Given the description of an element on the screen output the (x, y) to click on. 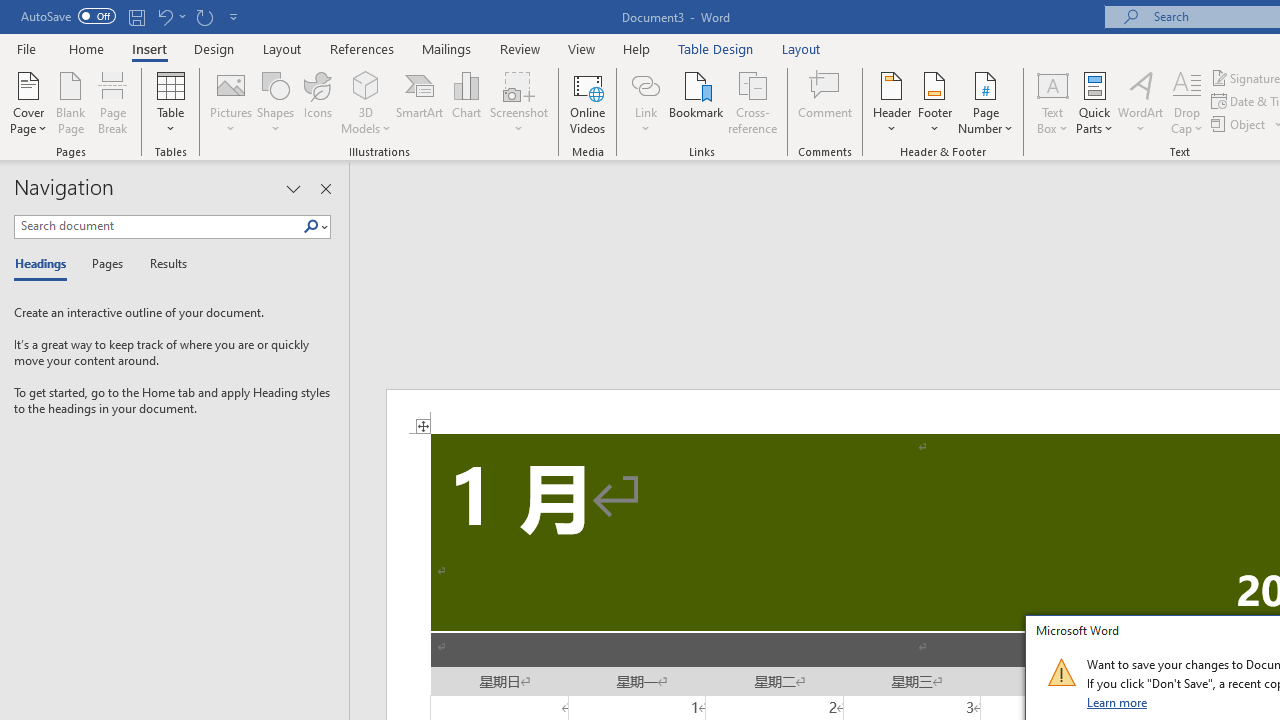
Online Videos... (588, 102)
Pictures (230, 102)
Drop Cap (1187, 102)
Bookmark... (695, 102)
Object... (1240, 124)
Quick Parts (1094, 102)
Page Number (986, 102)
Blank Page (70, 102)
